Given the description of an element on the screen output the (x, y) to click on. 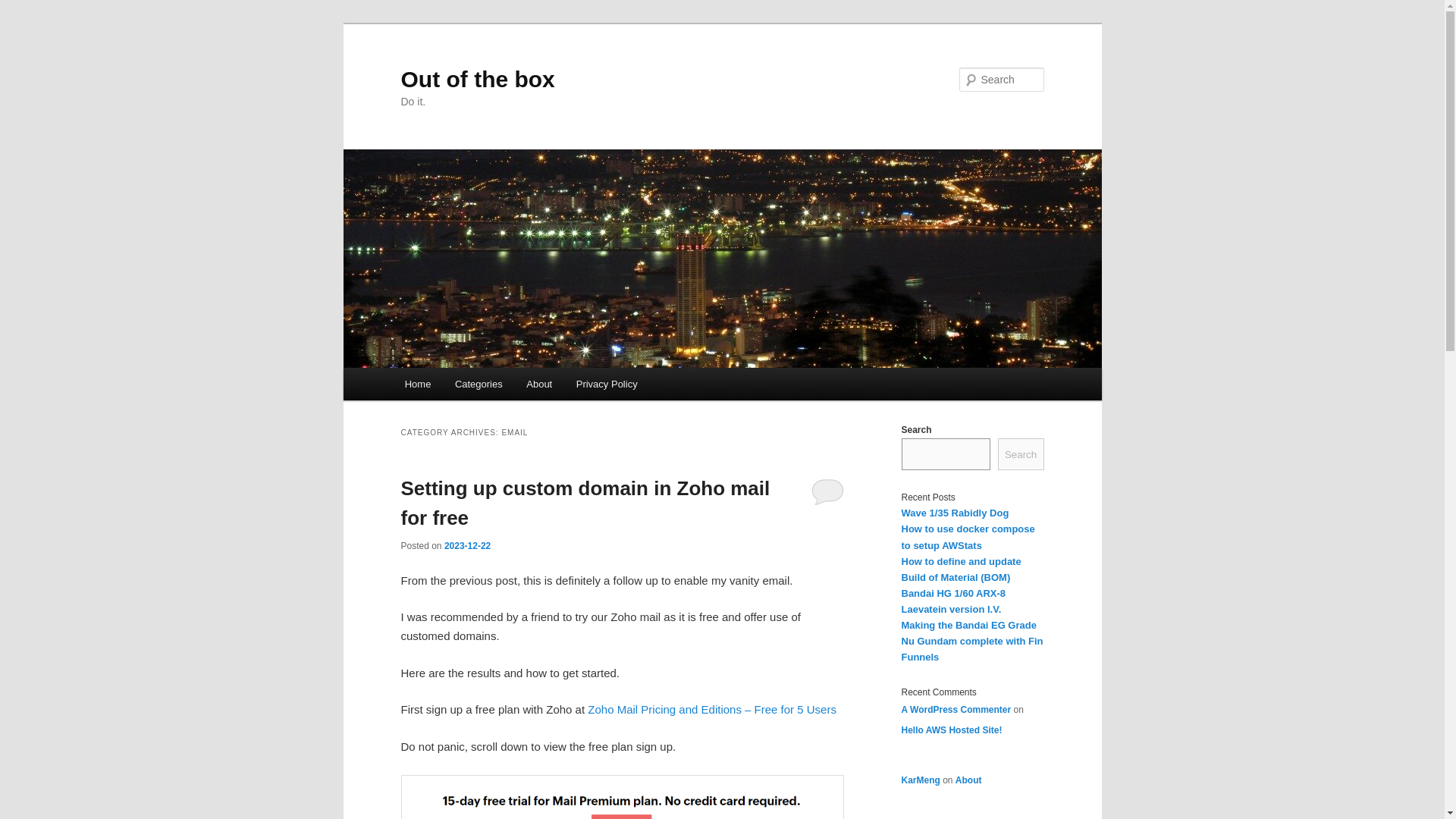
Search (1020, 454)
Search (24, 8)
Out of the box (477, 78)
How to use docker compose to setup AWStats (967, 536)
Categories (477, 383)
Setting up custom domain in Zoho mail for free (585, 502)
2023-12-22 (467, 545)
17:08 (467, 545)
Privacy Policy (606, 383)
Home (417, 383)
About (538, 383)
